Given the description of an element on the screen output the (x, y) to click on. 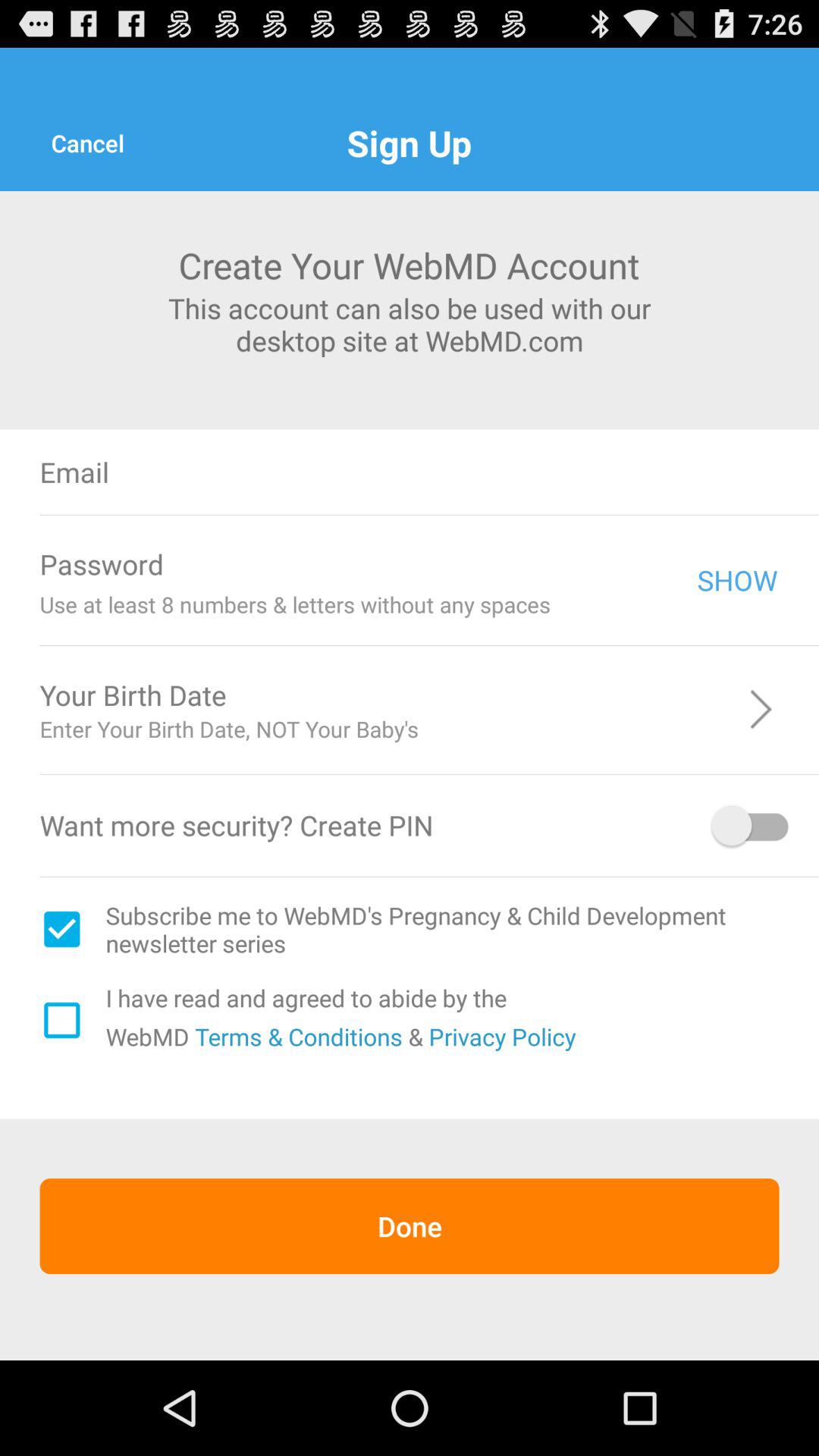
launch terms & conditions (295, 1036)
